Given the description of an element on the screen output the (x, y) to click on. 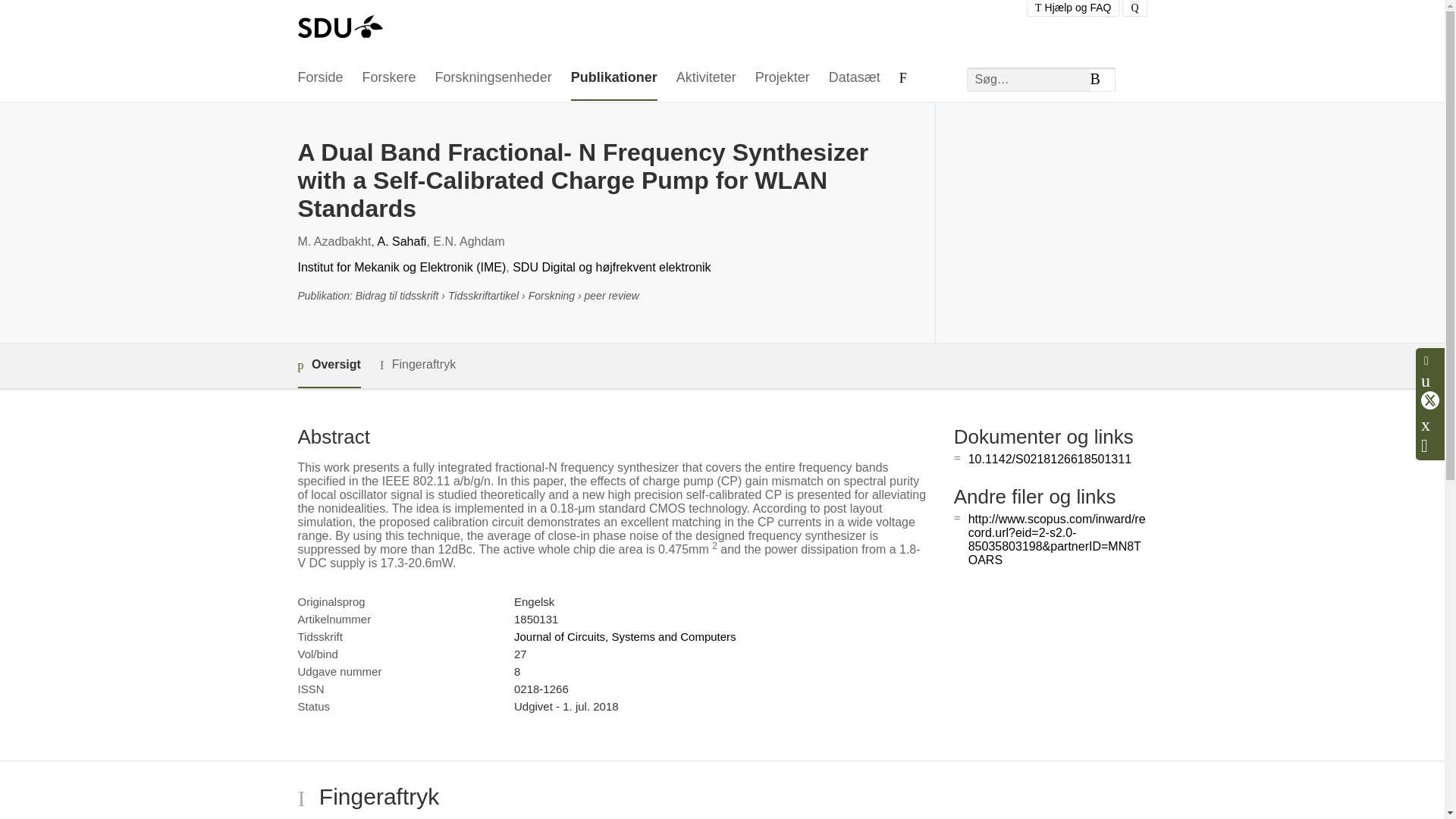
Aktiviteter (706, 78)
Forskningsenheder (493, 78)
Journal of Circuits, Systems and Computers (624, 635)
Projekter (782, 78)
Forskere (389, 78)
Oversigt (328, 365)
Fingeraftryk (417, 364)
Publikationer (614, 78)
Forside (319, 78)
A. Sahafi (401, 241)
Syddansk Universitet Forside (339, 27)
